Given the description of an element on the screen output the (x, y) to click on. 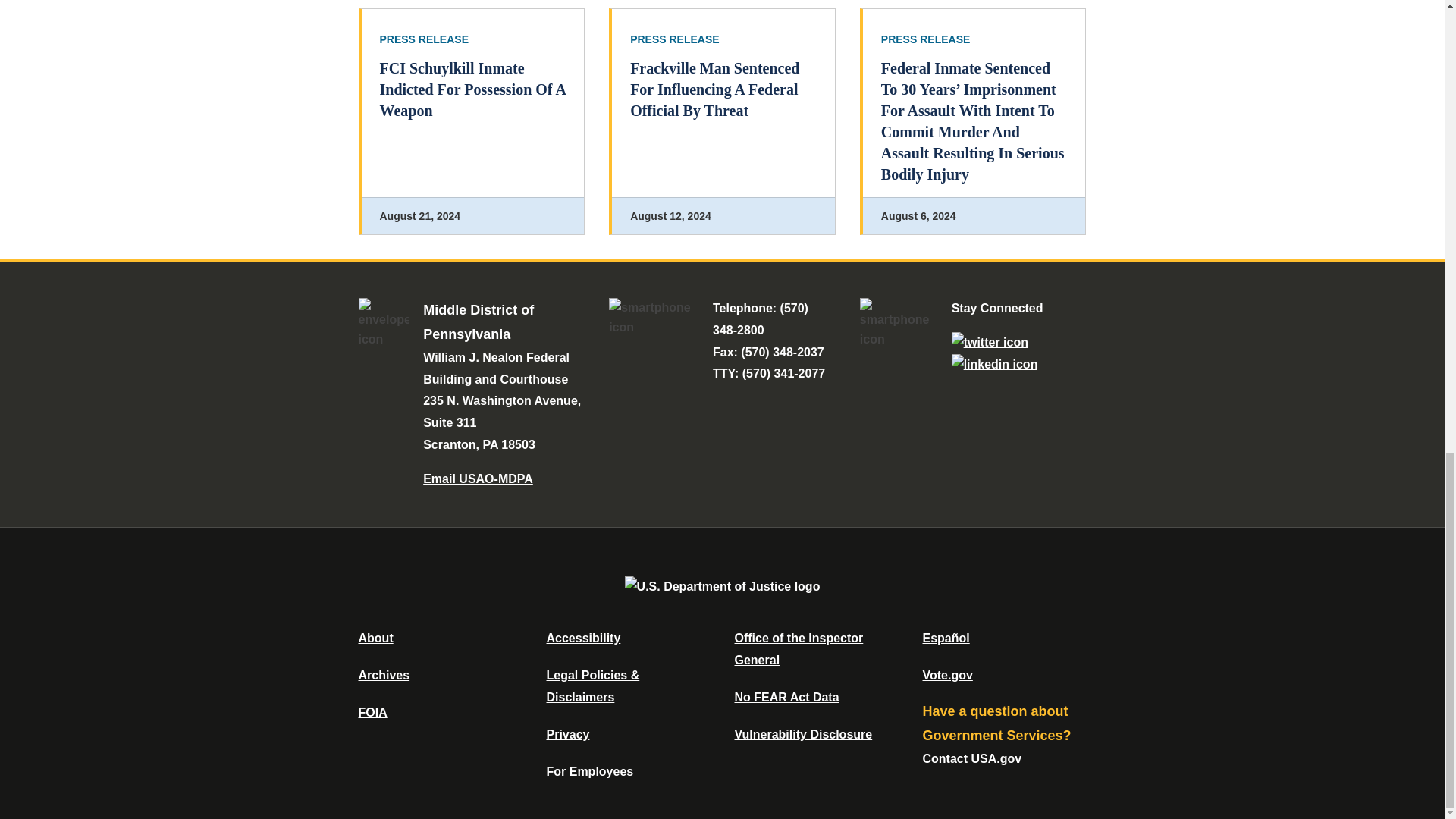
For Employees (589, 771)
Department of Justice Archive (383, 675)
Data Posted Pursuant To The No Fear Act (785, 697)
About DOJ (375, 637)
Office of Information Policy (372, 712)
Legal Policies and Disclaimers (592, 686)
Accessibility Statement (583, 637)
